Given the description of an element on the screen output the (x, y) to click on. 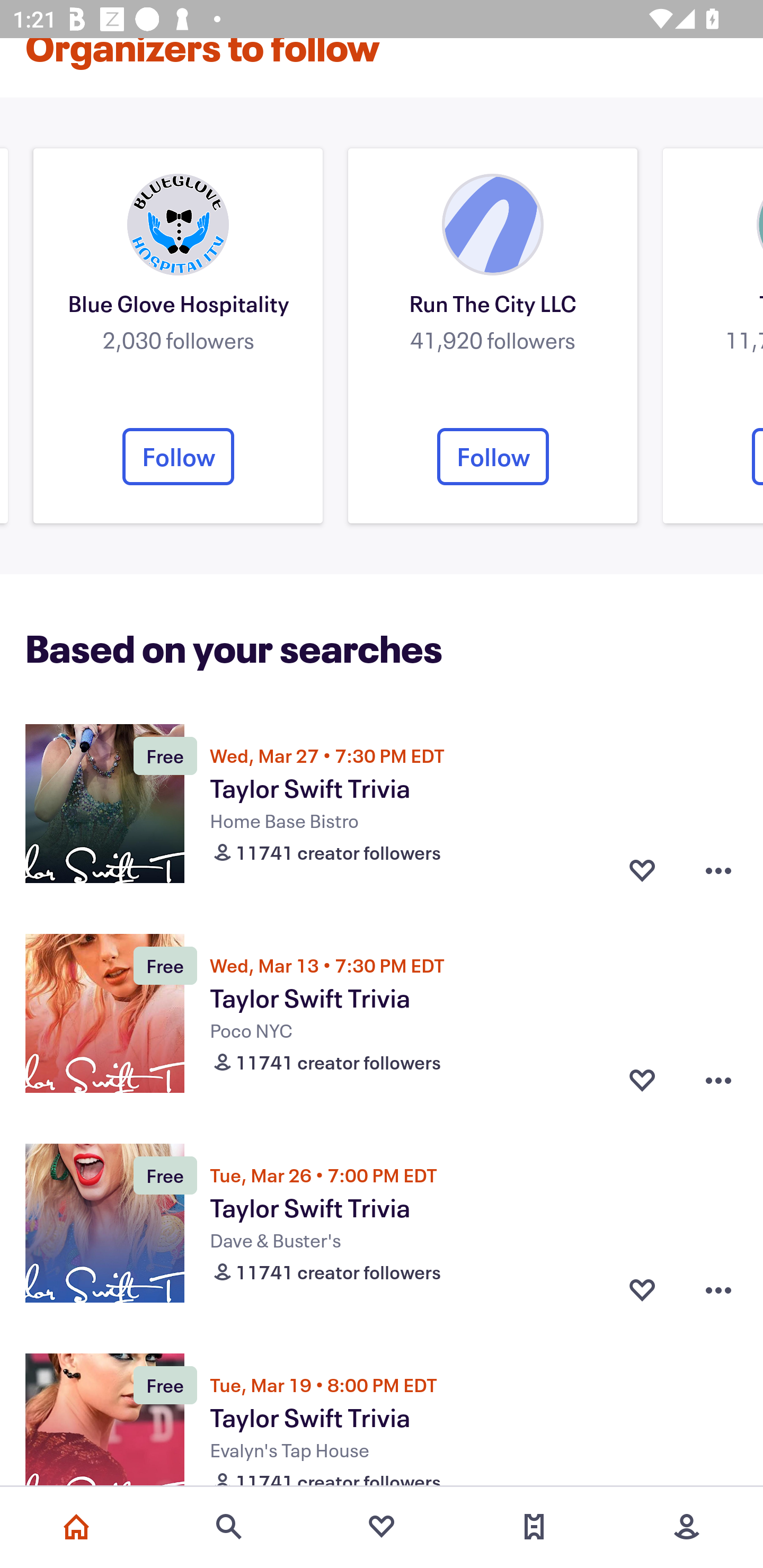
Follow Organizer's follow button (178, 456)
Follow Organizer's follow button (757, 456)
Favorite button (642, 869)
Overflow menu button (718, 869)
Favorite button (642, 1079)
Overflow menu button (718, 1079)
Favorite button (642, 1290)
Overflow menu button (718, 1290)
Home (76, 1526)
Search events (228, 1526)
Favorites (381, 1526)
Tickets (533, 1526)
More (686, 1526)
